Given the description of an element on the screen output the (x, y) to click on. 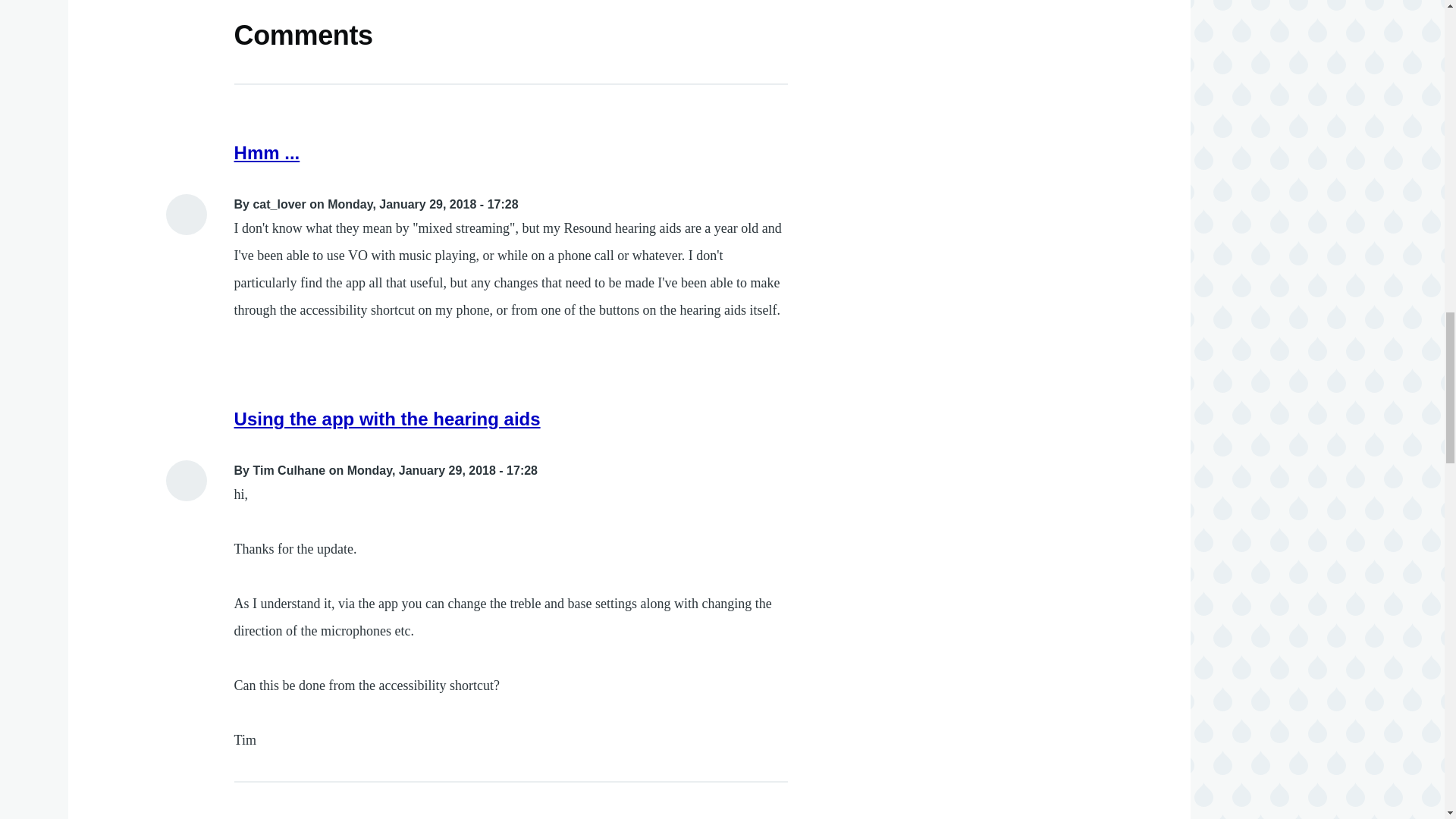
Hmm ... (266, 152)
Using the app with the hearing aids (387, 418)
